Given the description of an element on the screen output the (x, y) to click on. 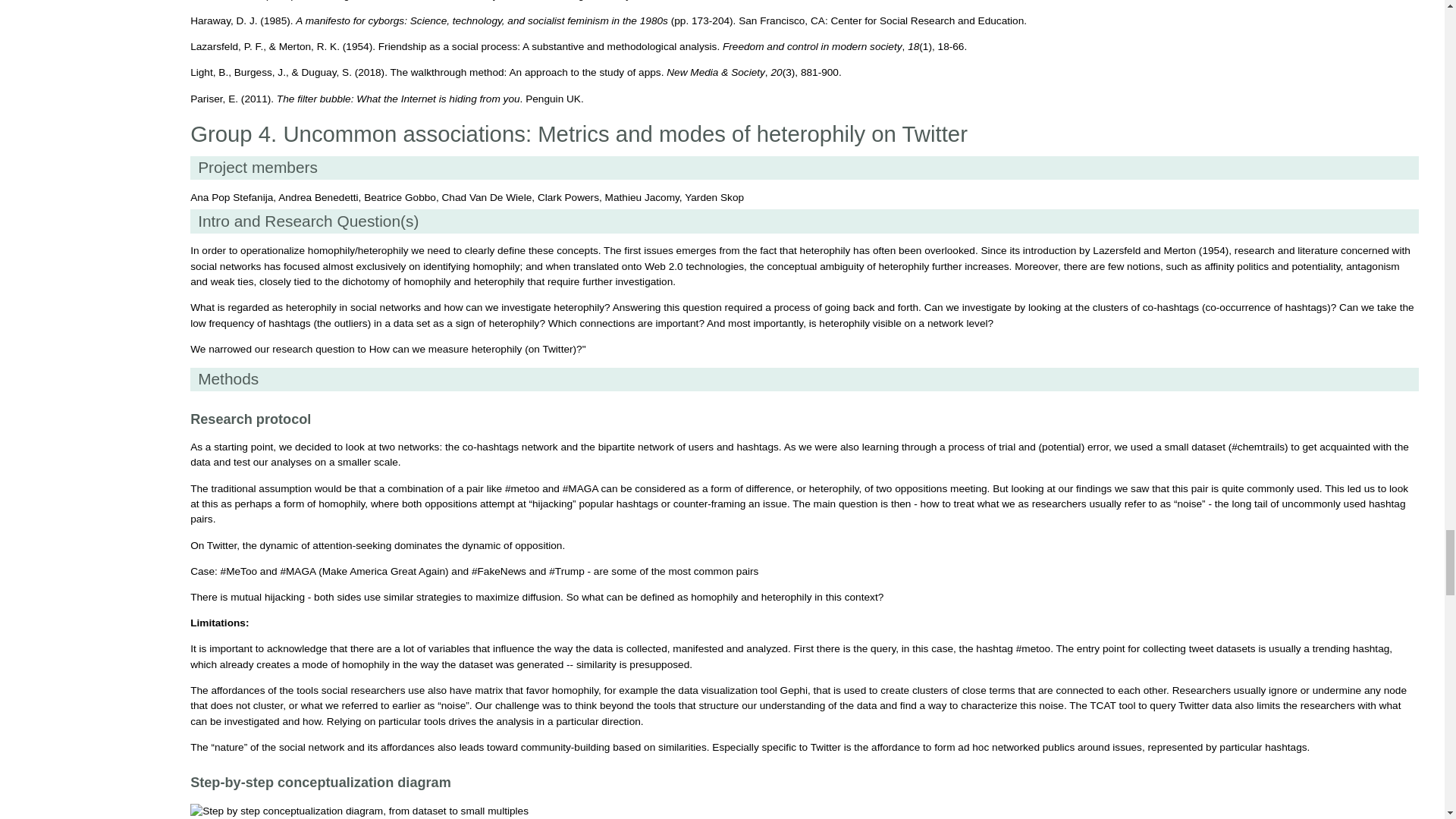
Conceptualization diagram (359, 811)
